Given the description of an element on the screen output the (x, y) to click on. 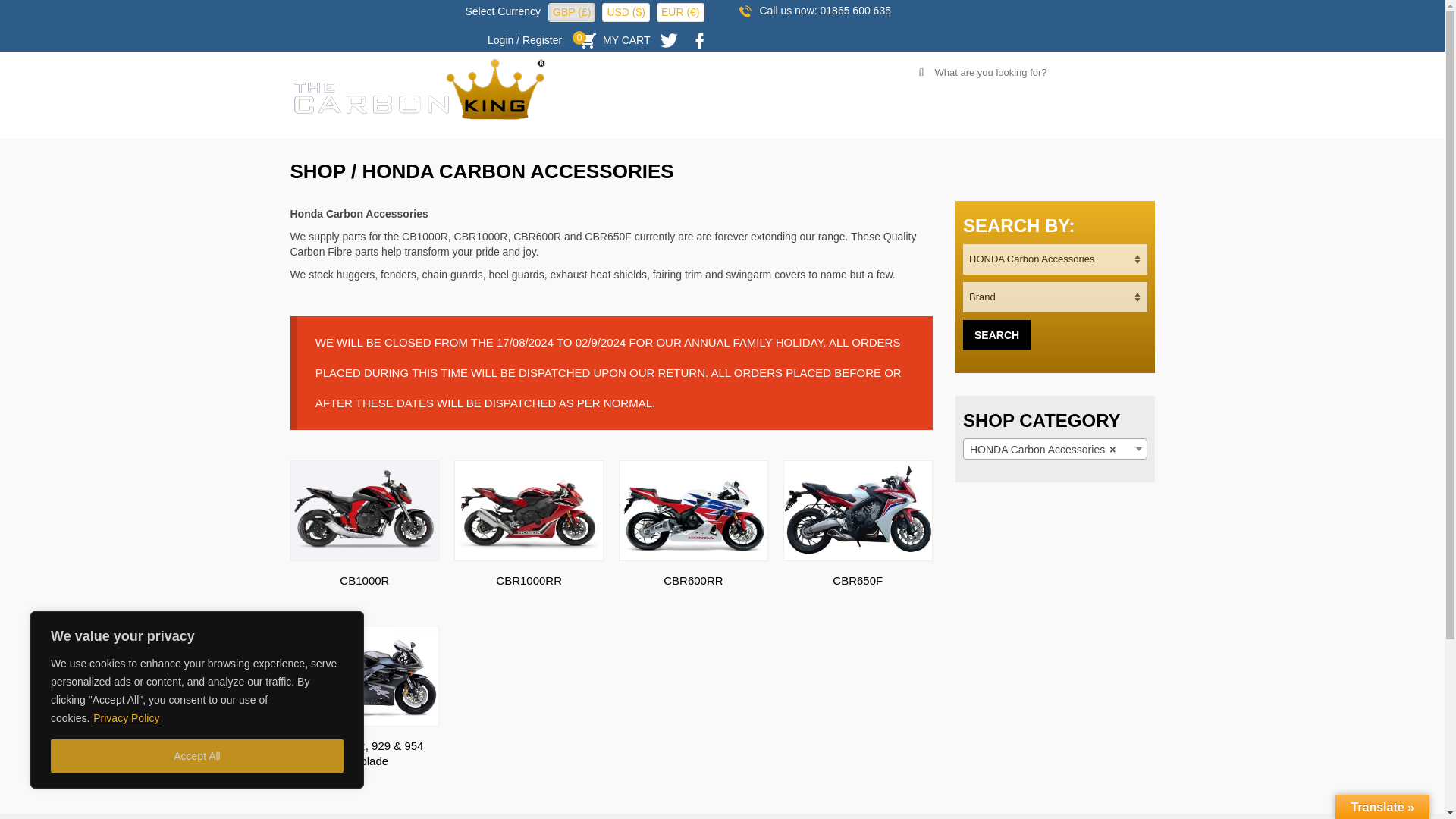
CONTACT US (1101, 123)
Privacy Policy (126, 717)
01865 600 635 (856, 10)
HOME (641, 123)
View your shopping cart (612, 39)
HONDA Carbon Accessories (1055, 449)
NEWS (860, 123)
Accept All (196, 756)
ABOUT US (781, 123)
SHOP (317, 170)
SHOP (705, 123)
CBR1000RR (529, 535)
CUSTOMER GALLERY (970, 123)
CB1000R (364, 535)
SEARCH (996, 335)
